Given the description of an element on the screen output the (x, y) to click on. 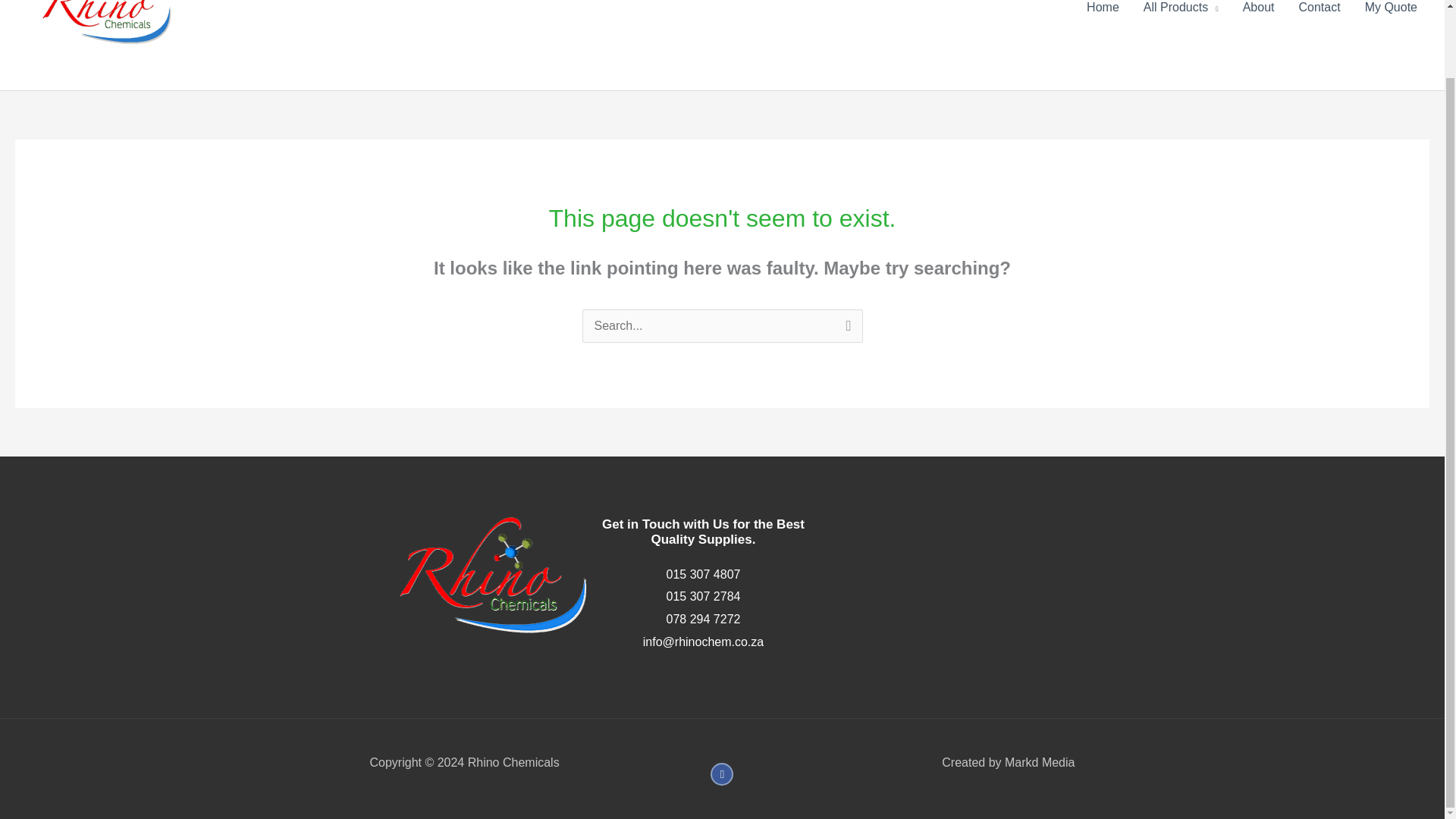
Facebook-f (721, 773)
All Products (1180, 15)
19 Plantation Rd, Tzaneen (963, 580)
Home (1102, 15)
Contact (1318, 15)
My Quote (1390, 15)
About (1258, 15)
